Given the description of an element on the screen output the (x, y) to click on. 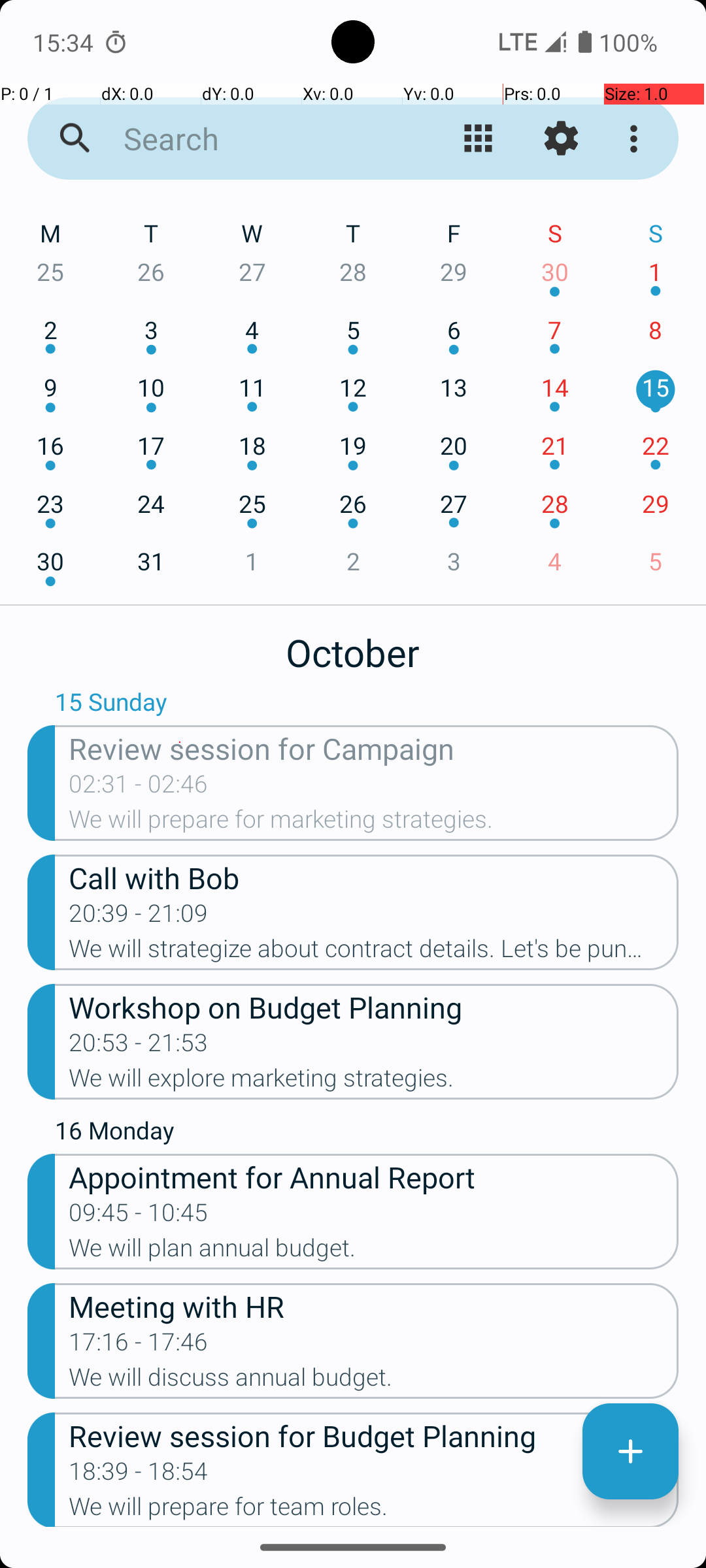
02:31 - 02:46 Element type: android.widget.TextView (137, 787)
We will prepare for marketing strategies. Element type: android.widget.TextView (373, 822)
20:39 - 21:09 Element type: android.widget.TextView (137, 916)
We will strategize about contract details. Let's be punctual. Element type: android.widget.TextView (373, 952)
20:53 - 21:53 Element type: android.widget.TextView (137, 1046)
We will explore marketing strategies. Element type: android.widget.TextView (373, 1081)
09:45 - 10:45 Element type: android.widget.TextView (137, 1216)
We will plan annual budget. Element type: android.widget.TextView (373, 1251)
17:16 - 17:46 Element type: android.widget.TextView (137, 1345)
We will discuss annual budget. Element type: android.widget.TextView (373, 1380)
18:39 - 18:54 Element type: android.widget.TextView (137, 1474)
We will prepare for team roles. Element type: android.widget.TextView (373, 1509)
